Given the description of an element on the screen output the (x, y) to click on. 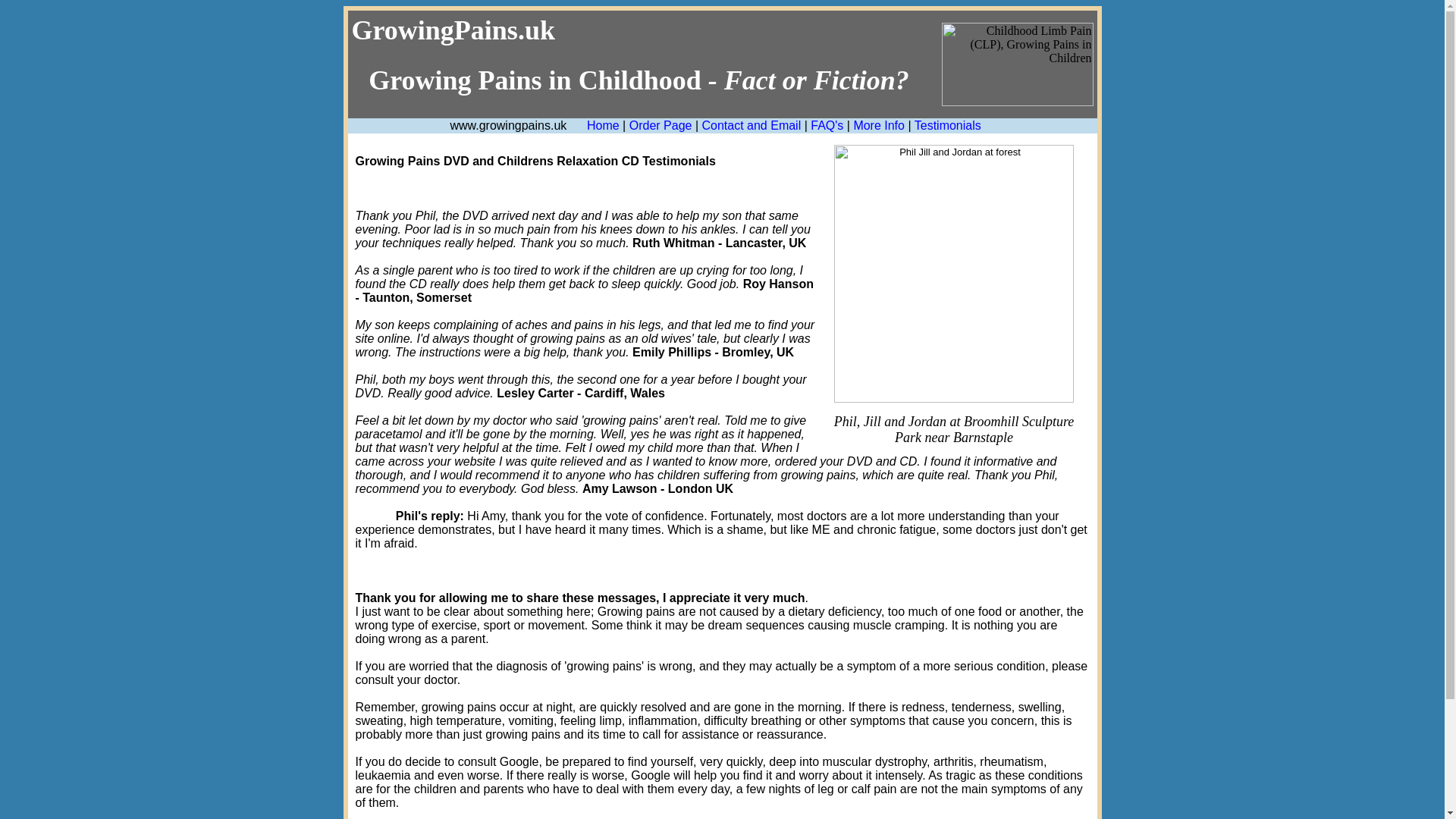
Testimonials (947, 124)
Contact and Email (750, 124)
Growing Pains DVD FAQ Page (826, 124)
Growing Pains DVD Order Page (660, 124)
More Info (878, 124)
Growing Pains Contact Page (750, 124)
Growing Pains Home Page (603, 124)
Growing Pains in Childhood (638, 63)
FAQ's (826, 124)
Home (603, 124)
Order Page (660, 124)
Growing Pains DVD Testimonials Page (947, 124)
More Information About Growing Pains (878, 124)
